Given the description of an element on the screen output the (x, y) to click on. 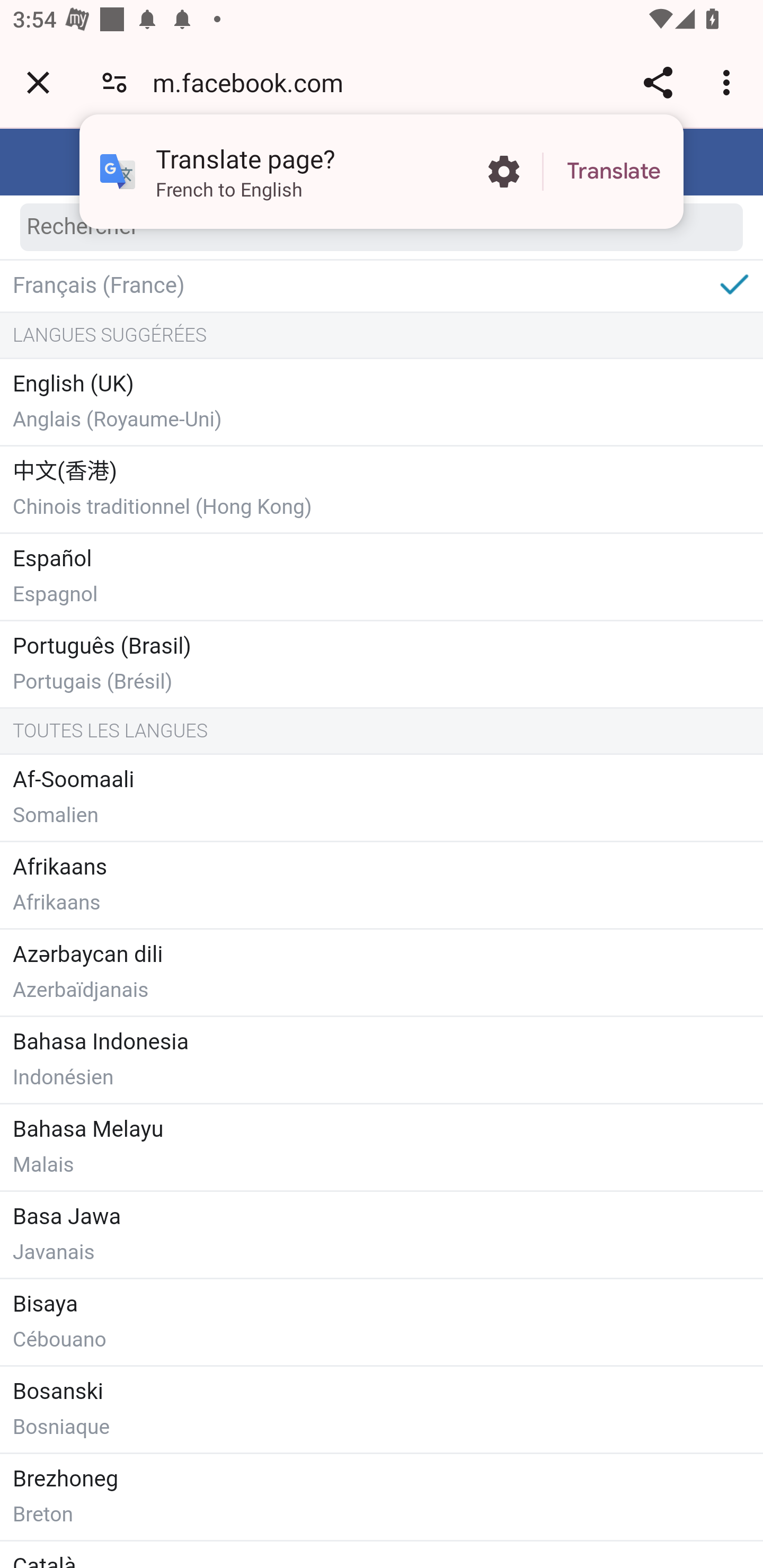
Close tab (38, 82)
Share (657, 82)
Customize and control Google Chrome (729, 82)
Connection is secure (114, 81)
m.facebook.com (254, 81)
Translate (613, 171)
More options in the Translate page? (503, 171)
